Given the description of an element on the screen output the (x, y) to click on. 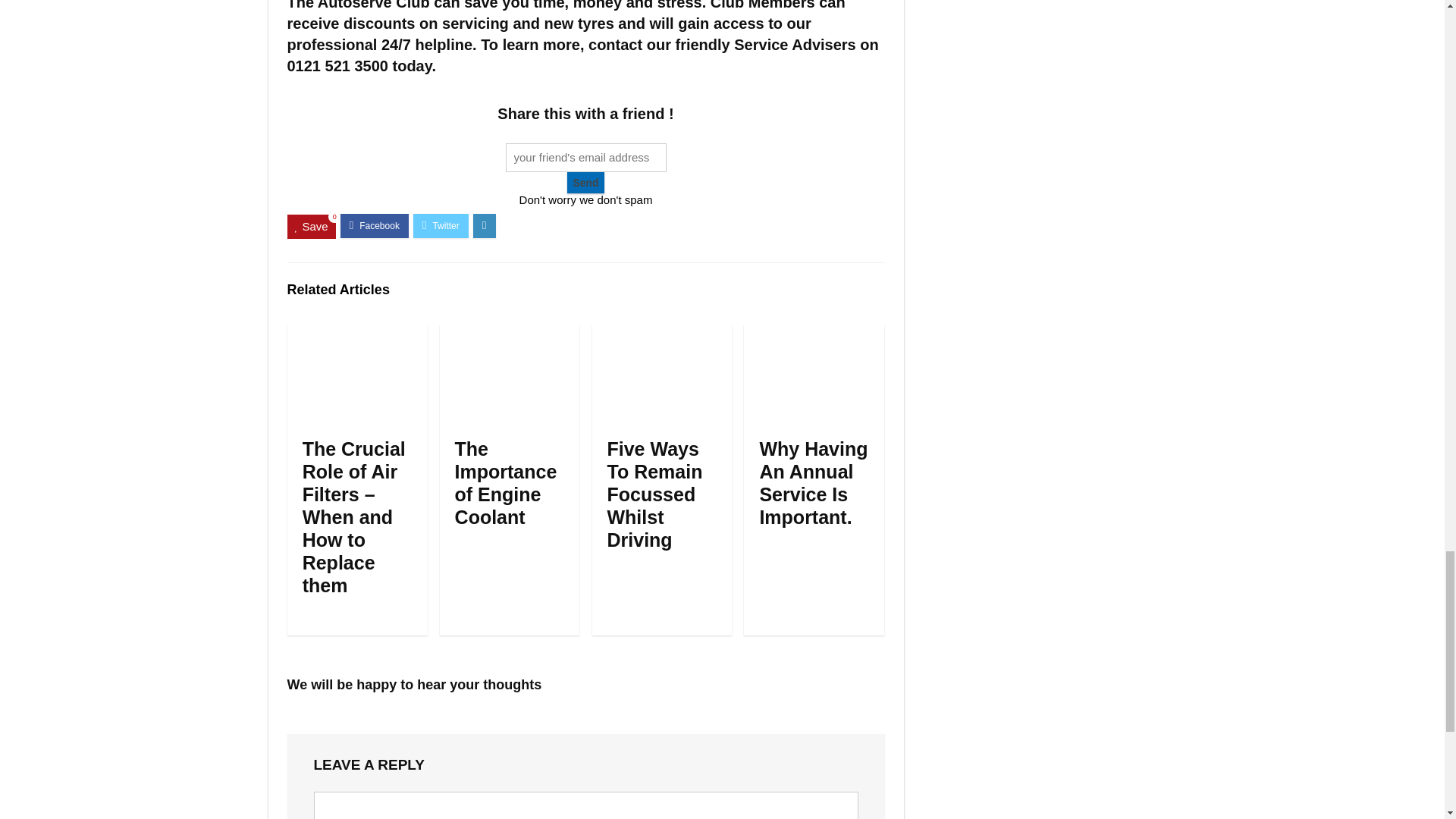
Send (585, 182)
Send (585, 182)
Why Having An Annual Service Is Important. (812, 482)
The Importance of Engine Coolant (505, 482)
